Given the description of an element on the screen output the (x, y) to click on. 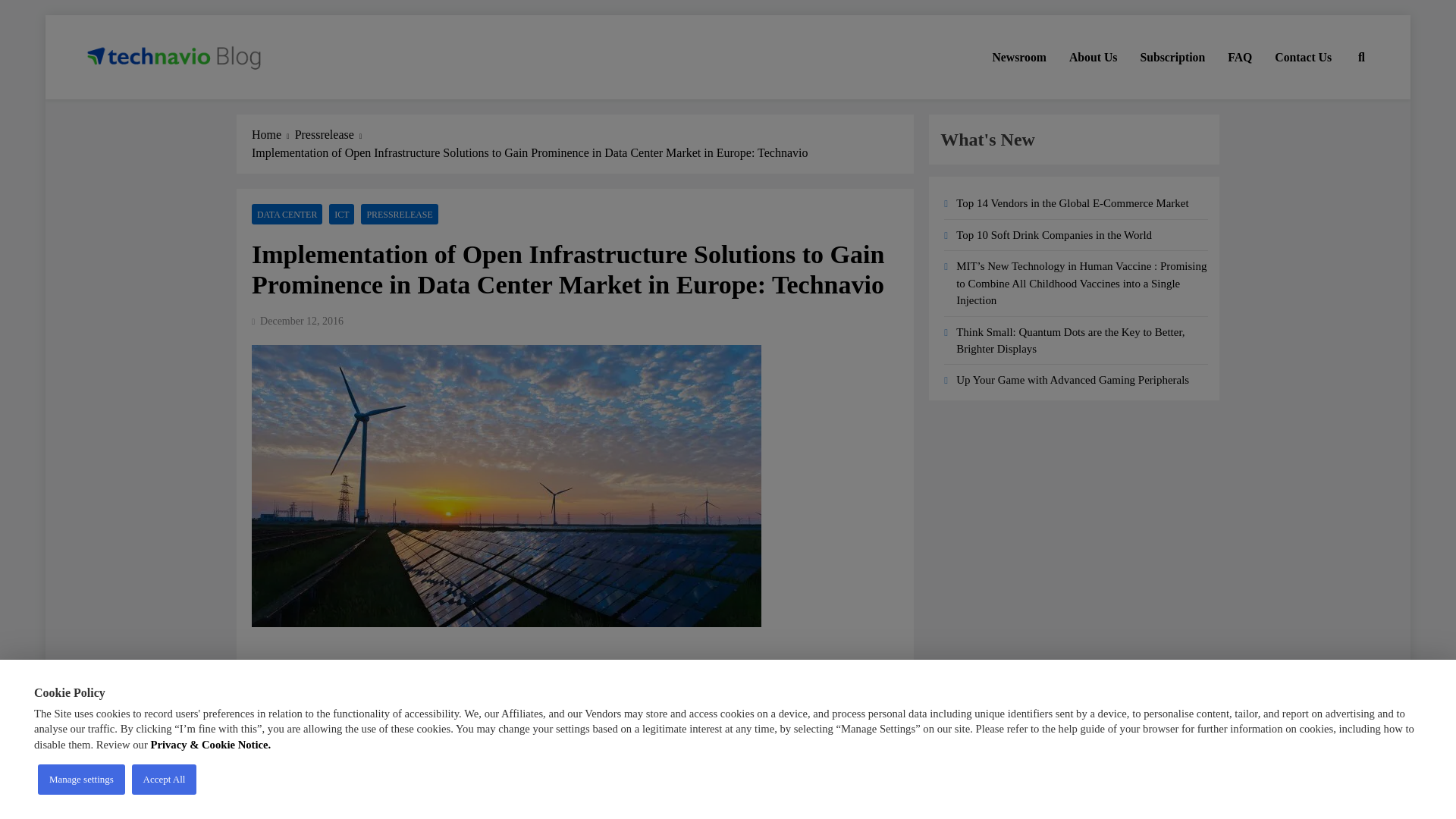
FAQ (1239, 56)
ICT (341, 213)
About Us (1093, 56)
data center (381, 777)
Technavio (138, 100)
PRESSRELEASE (399, 213)
Technavio (279, 757)
Newsroom (1019, 56)
Pressrelease (331, 135)
